Given the description of an element on the screen output the (x, y) to click on. 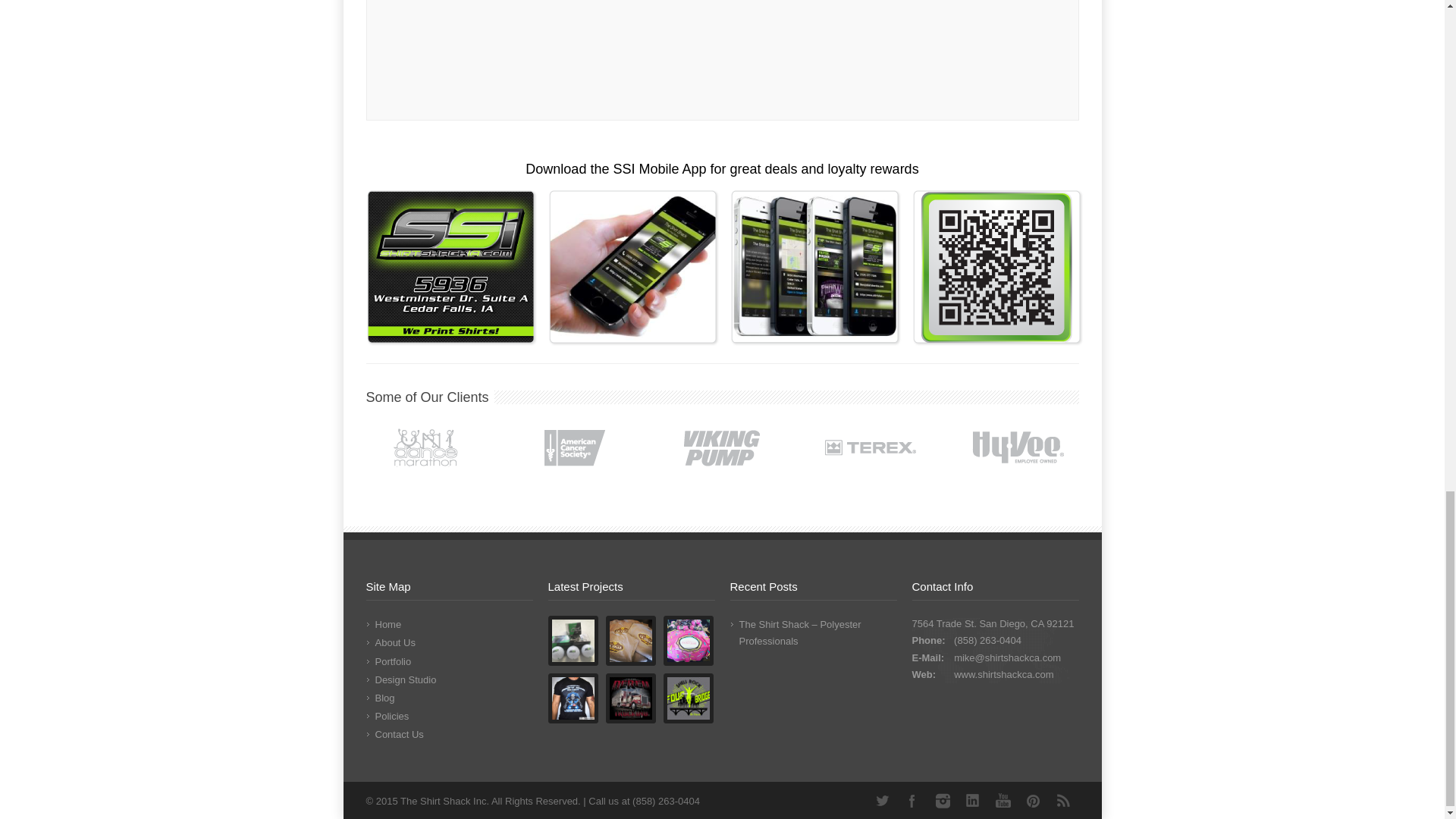
Home (387, 624)
